Given the description of an element on the screen output the (x, y) to click on. 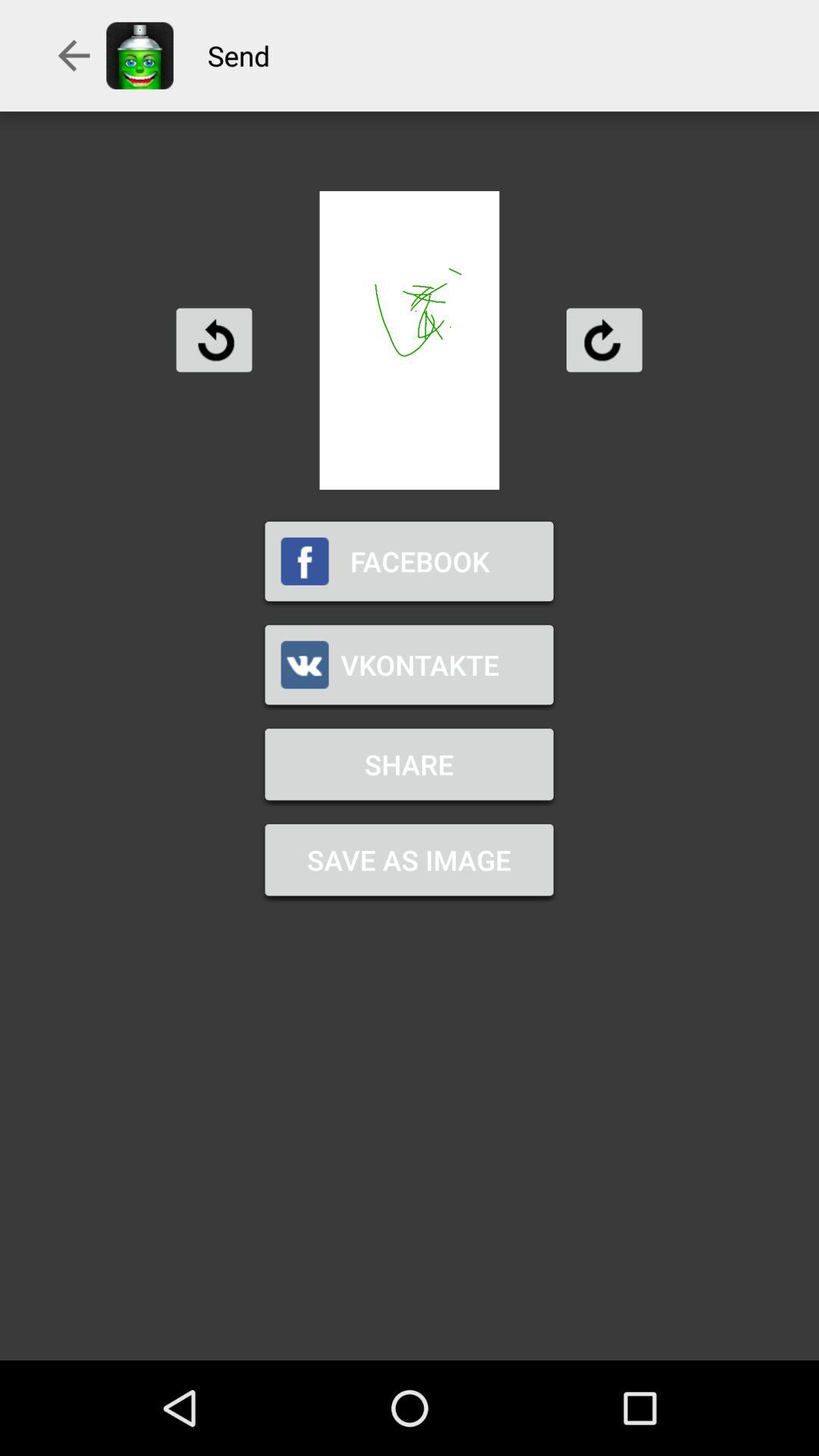
choose the icon above the facebook icon (213, 339)
